Given the description of an element on the screen output the (x, y) to click on. 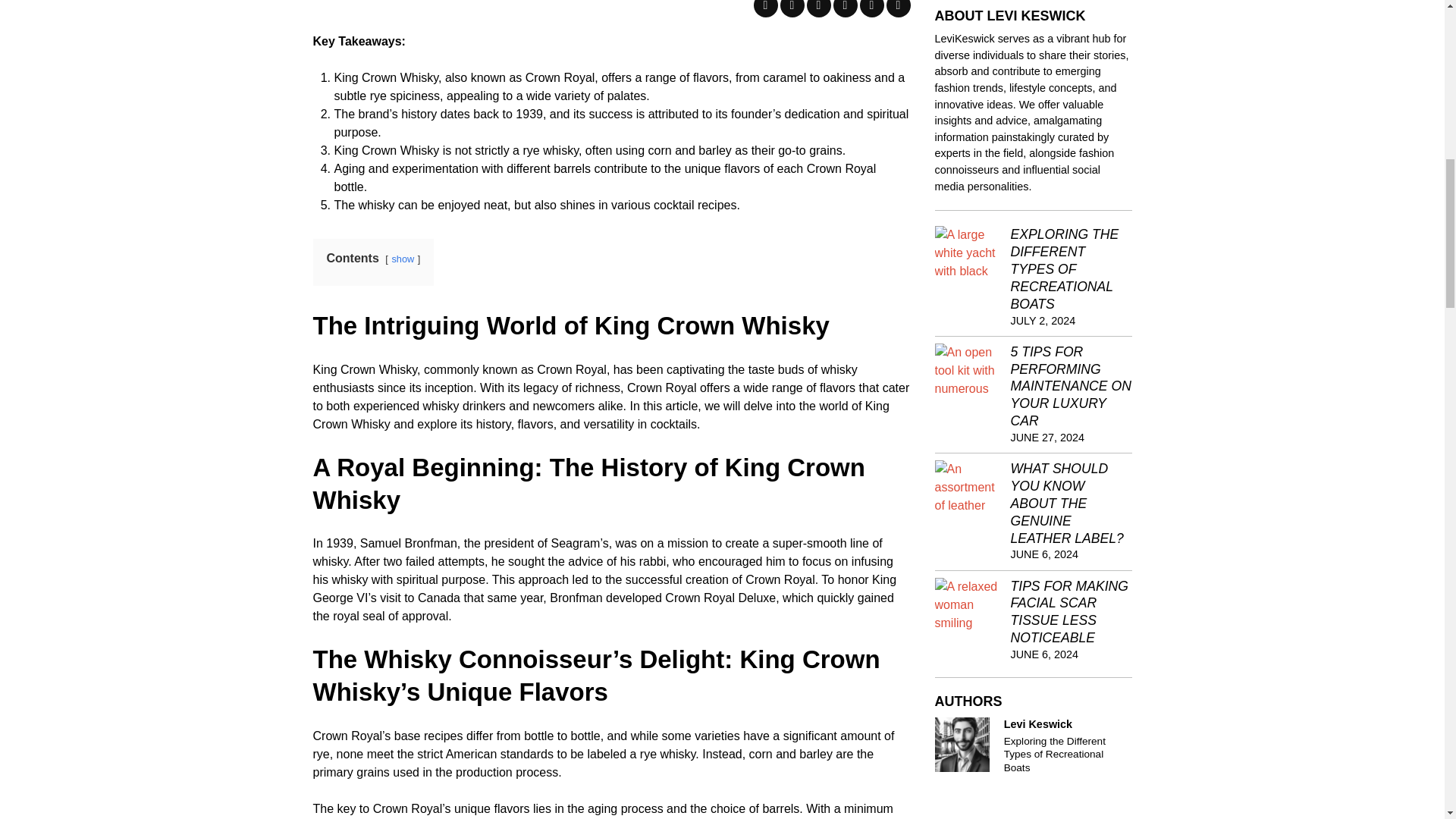
02 Jul, 2024 19:54:07 (1042, 319)
27 Jun, 2024 14:49:16 (1047, 437)
show (402, 258)
06 Jun, 2024 15:10:51 (1044, 654)
06 Jun, 2024 17:11:52 (1044, 554)
Levi Keswick (961, 744)
